Given the description of an element on the screen output the (x, y) to click on. 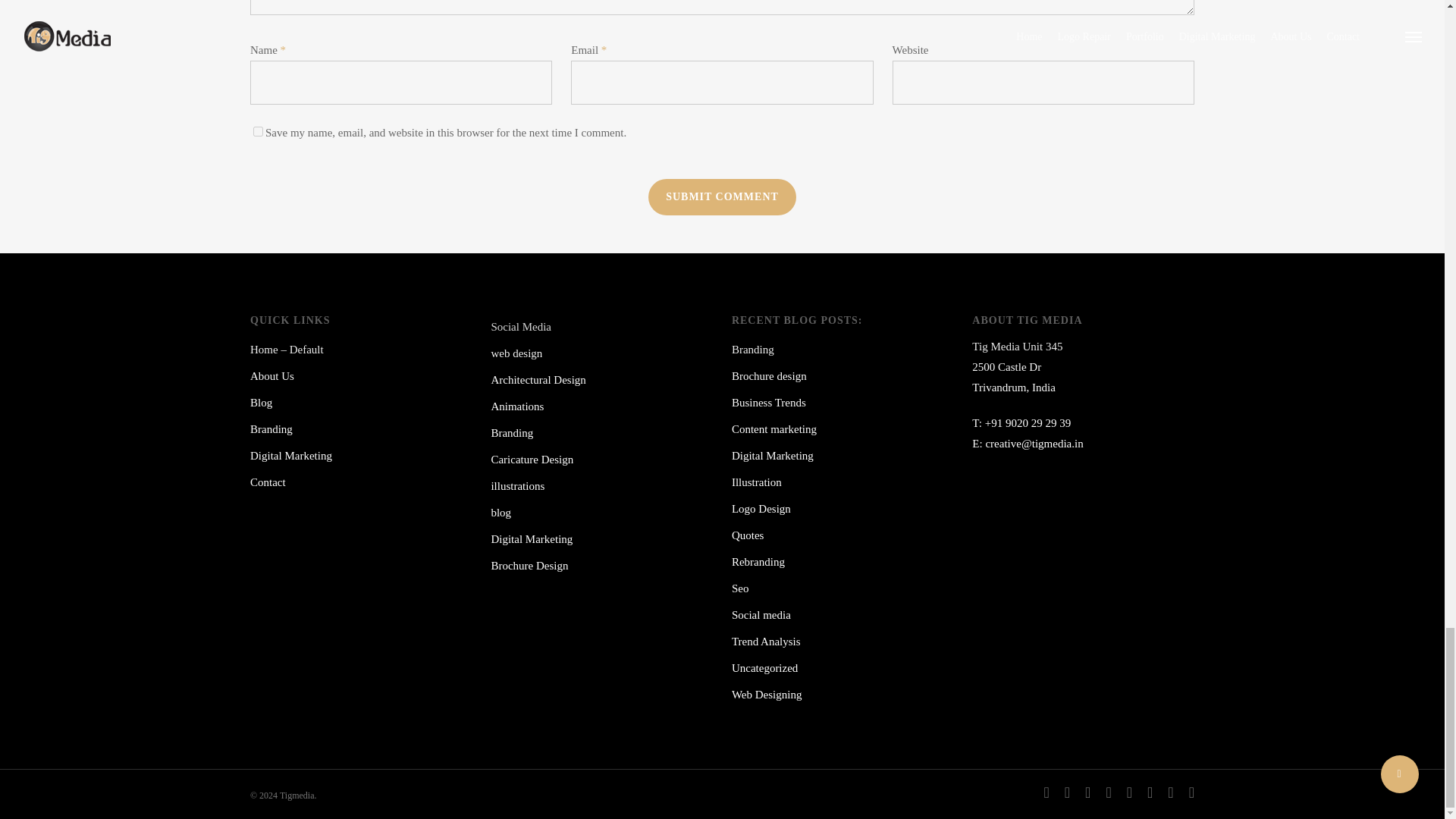
yes (258, 131)
Submit Comment (721, 197)
Submit Comment (721, 197)
